Given the description of an element on the screen output the (x, y) to click on. 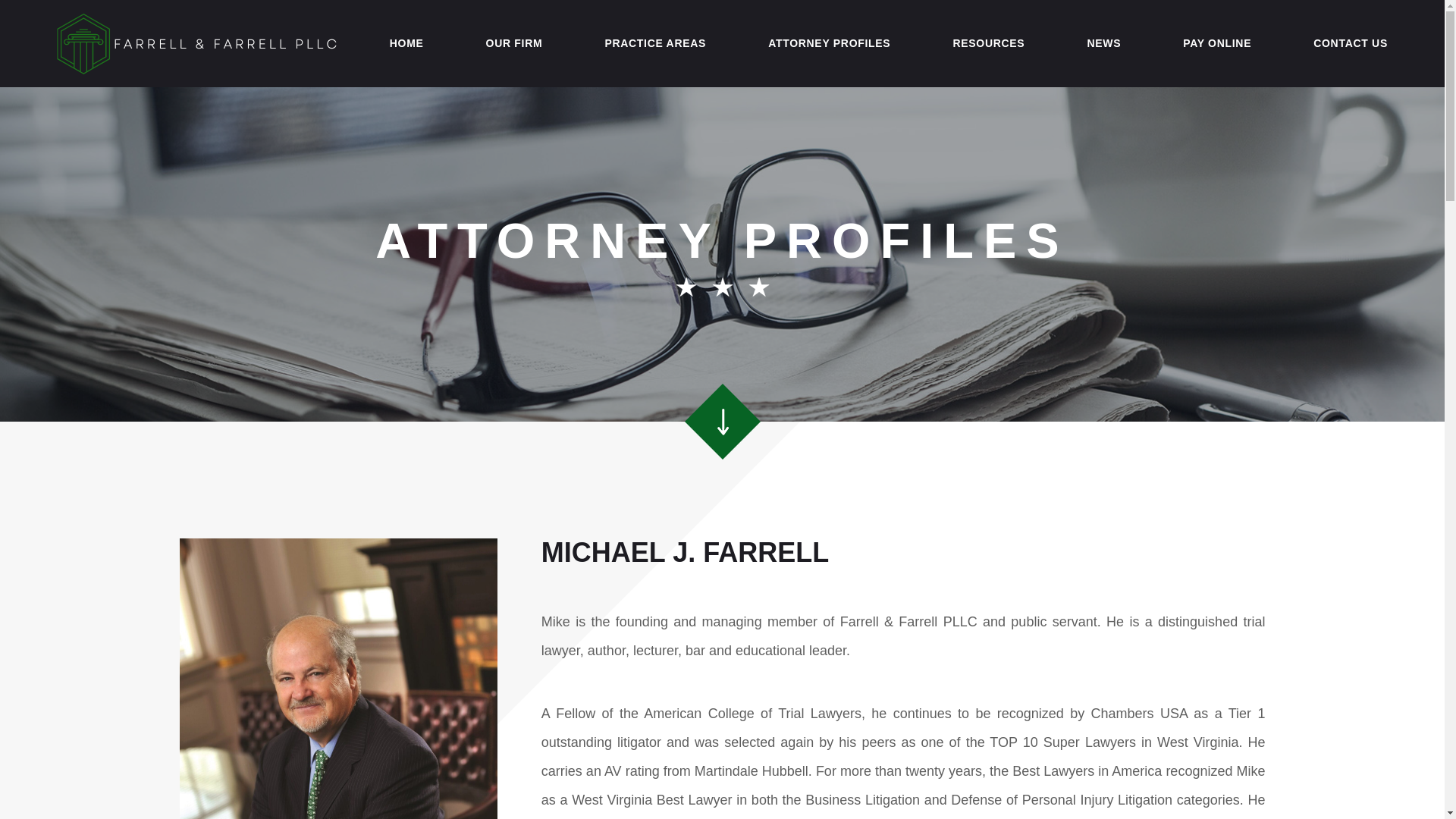
ATTORNEY PROFILES (828, 42)
PRACTICE AREAS (655, 42)
OUR FIRM (514, 42)
RESOURCES (988, 42)
HOME (406, 42)
